Given the description of an element on the screen output the (x, y) to click on. 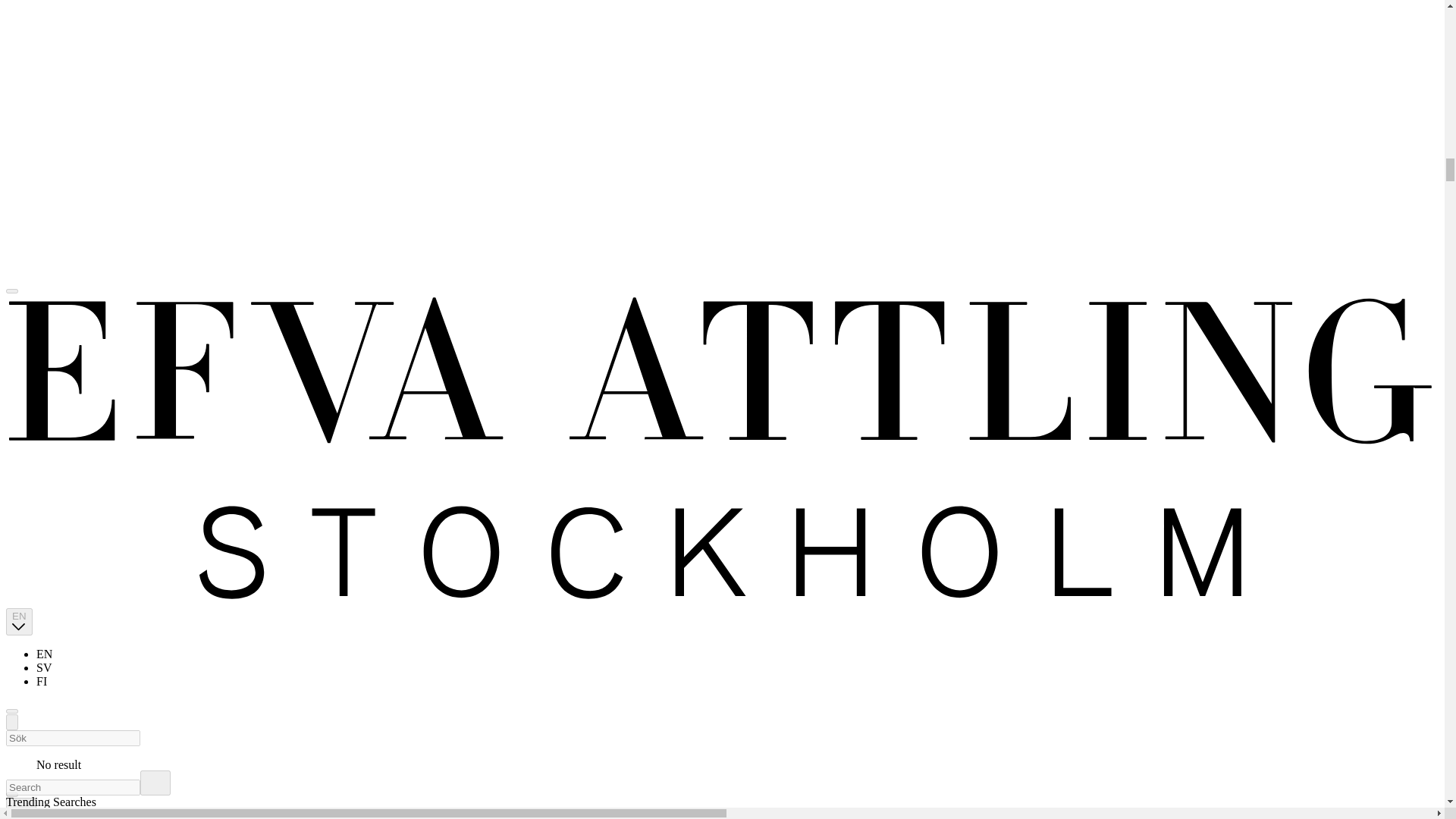
No result (721, 751)
